Given the description of an element on the screen output the (x, y) to click on. 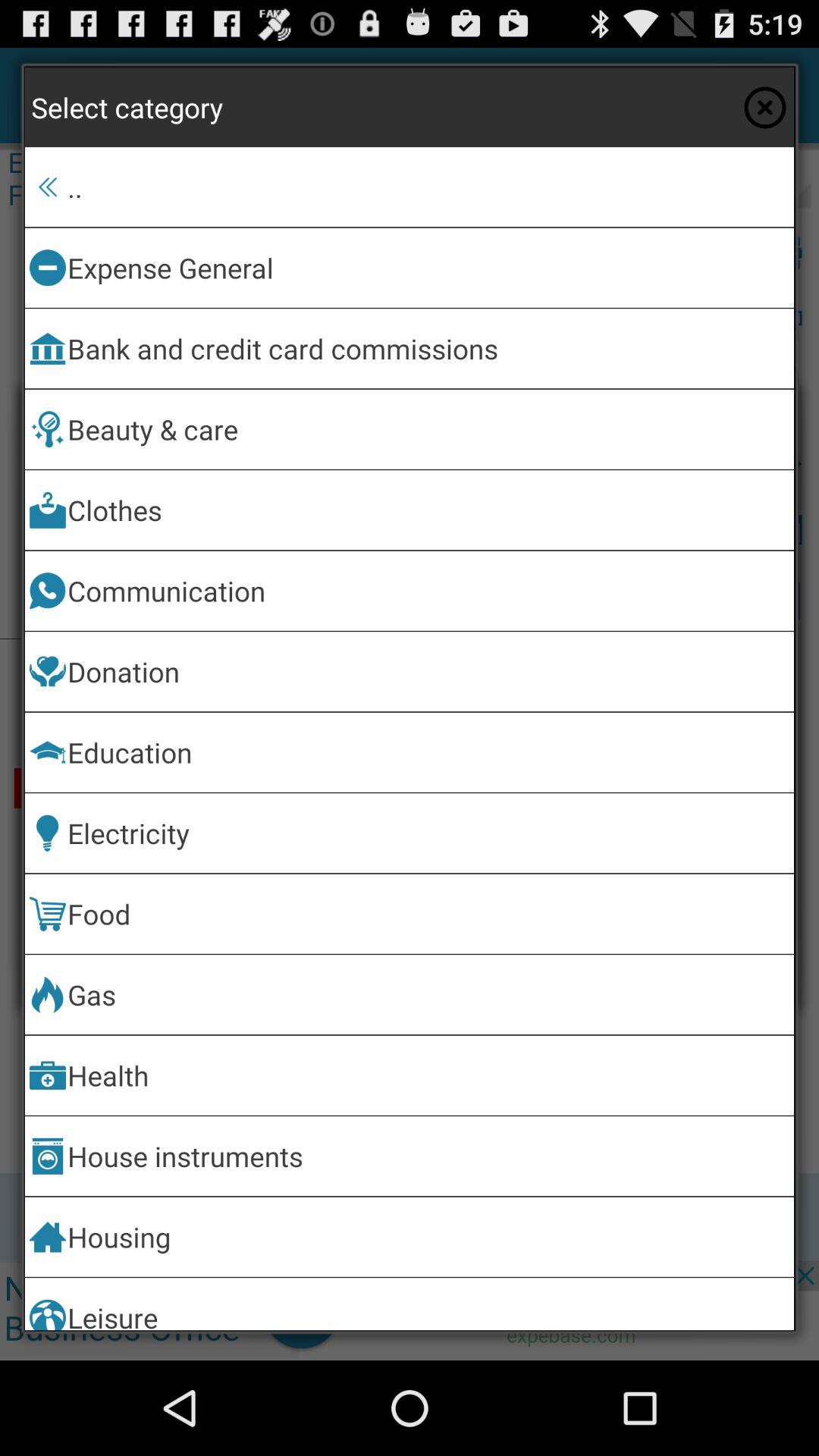
press icon above the house instruments item (427, 1075)
